Given the description of an element on the screen output the (x, y) to click on. 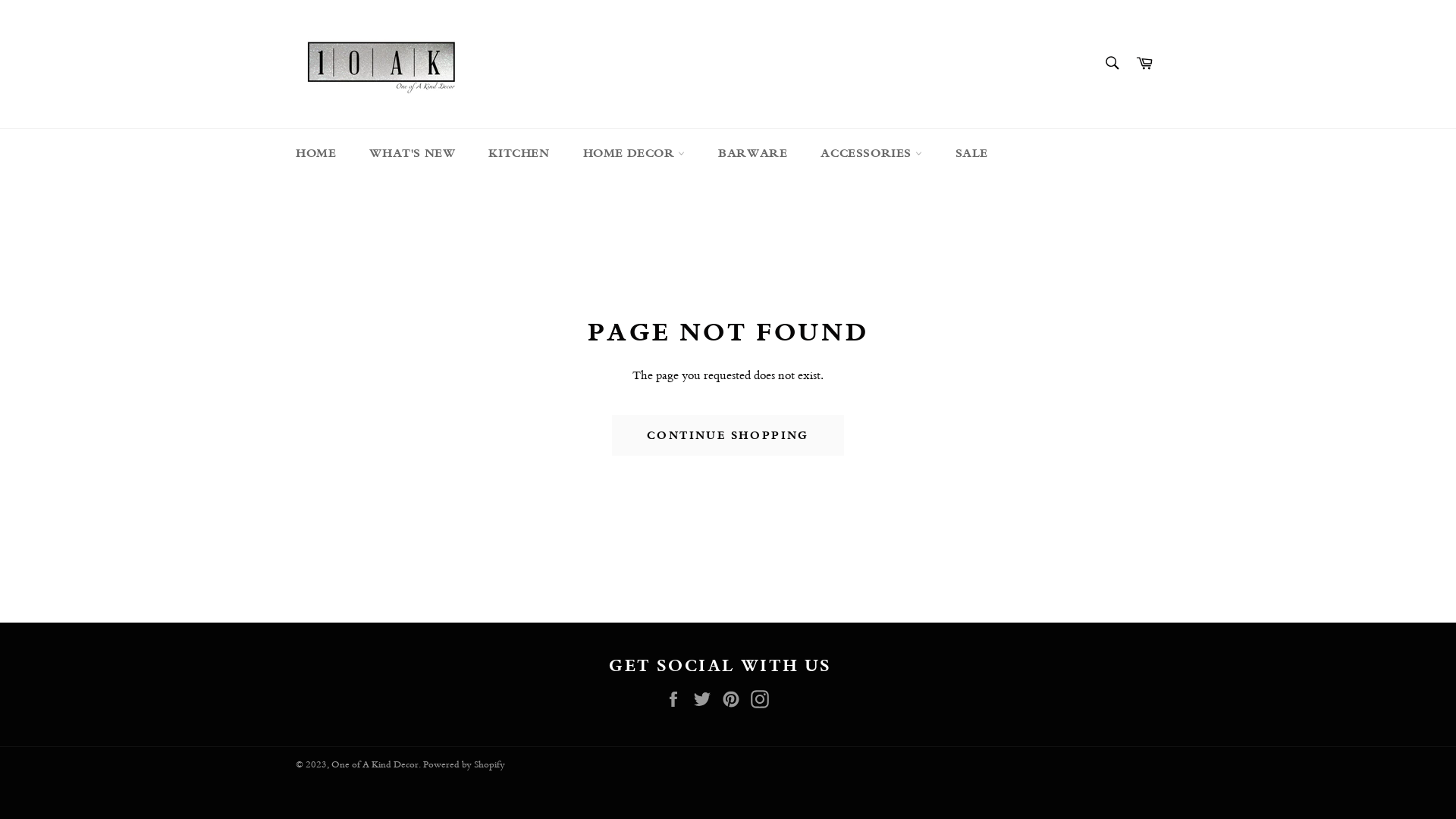
Search Element type: text (1111, 62)
BARWARE Element type: text (752, 152)
WHAT'S NEW Element type: text (412, 152)
One of A Kind Decor Element type: text (374, 763)
Twitter Element type: text (705, 698)
KITCHEN Element type: text (518, 152)
SALE Element type: text (971, 152)
Powered by Shopify Element type: text (464, 763)
Pinterest Element type: text (734, 698)
Instagram Element type: text (763, 698)
ACCESSORIES Element type: text (870, 152)
CONTINUE SHOPPING Element type: text (727, 434)
Cart Element type: text (1144, 64)
HOME DECOR Element type: text (633, 152)
HOME Element type: text (315, 152)
Facebook Element type: text (677, 698)
